Given the description of an element on the screen output the (x, y) to click on. 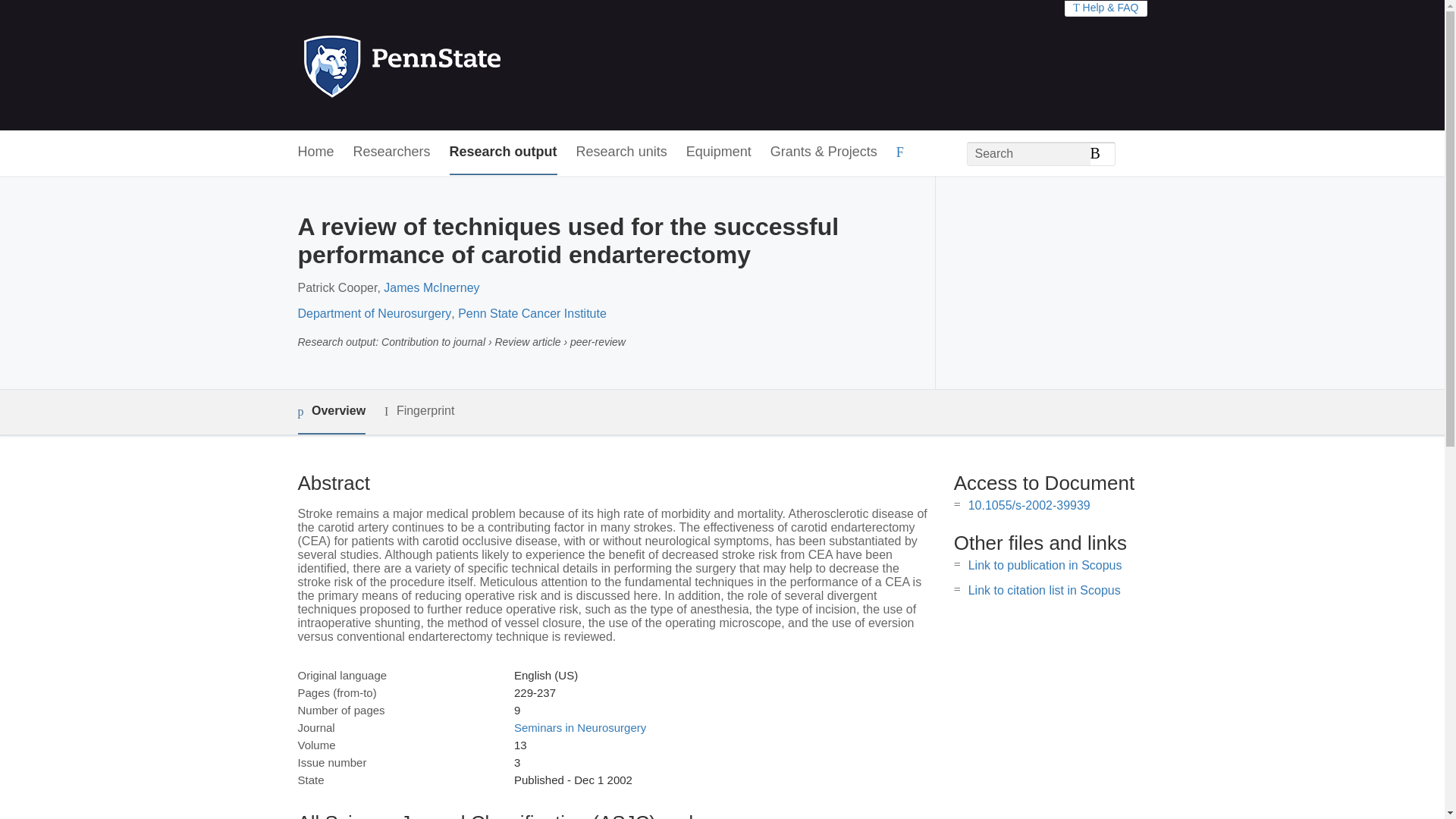
James McInerney (431, 287)
Equipment (718, 152)
Link to publication in Scopus (1045, 564)
Home (315, 152)
Fingerprint (419, 411)
Seminars in Neurosurgery (579, 727)
Penn State Home (467, 65)
Overview (331, 411)
Researchers (391, 152)
Research units (621, 152)
Department of Neurosurgery (374, 313)
Link to citation list in Scopus (1044, 590)
Penn State Cancer Institute (532, 313)
Research output (503, 152)
